Given the description of an element on the screen output the (x, y) to click on. 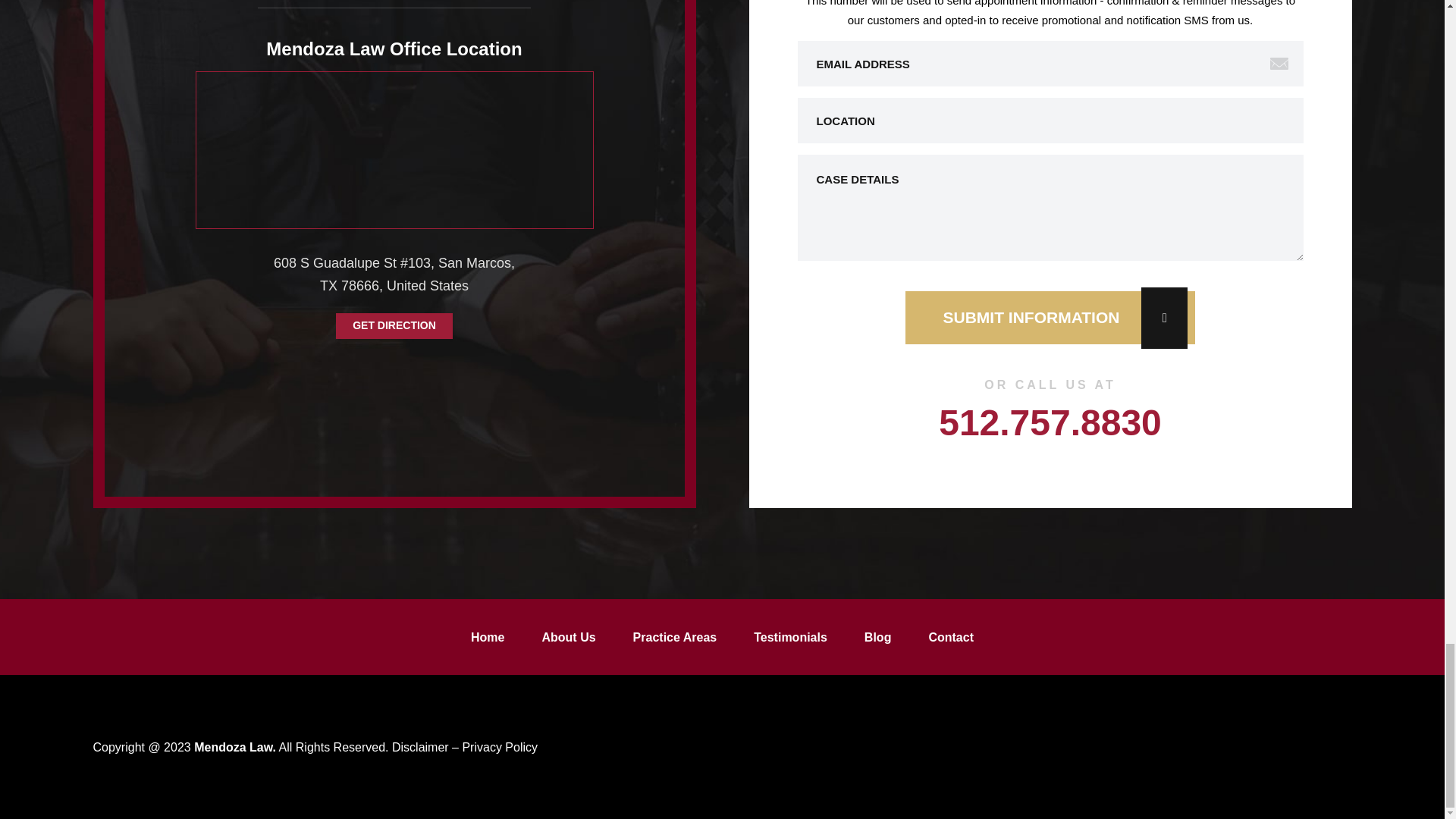
Submit information (1050, 317)
Mendoza Law Office Location (394, 145)
